Given the description of an element on the screen output the (x, y) to click on. 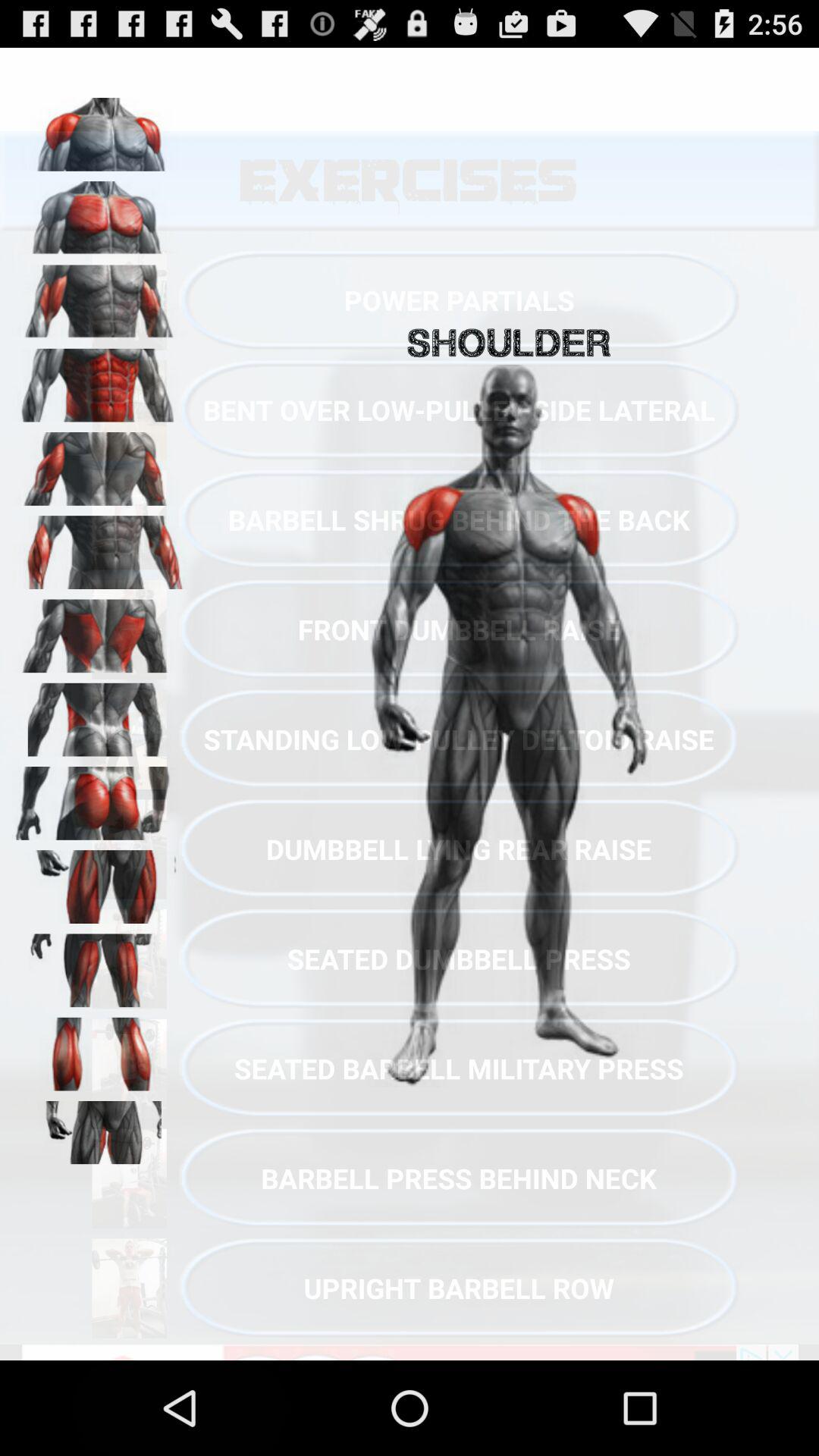
select groin (99, 1132)
